Given the description of an element on the screen output the (x, y) to click on. 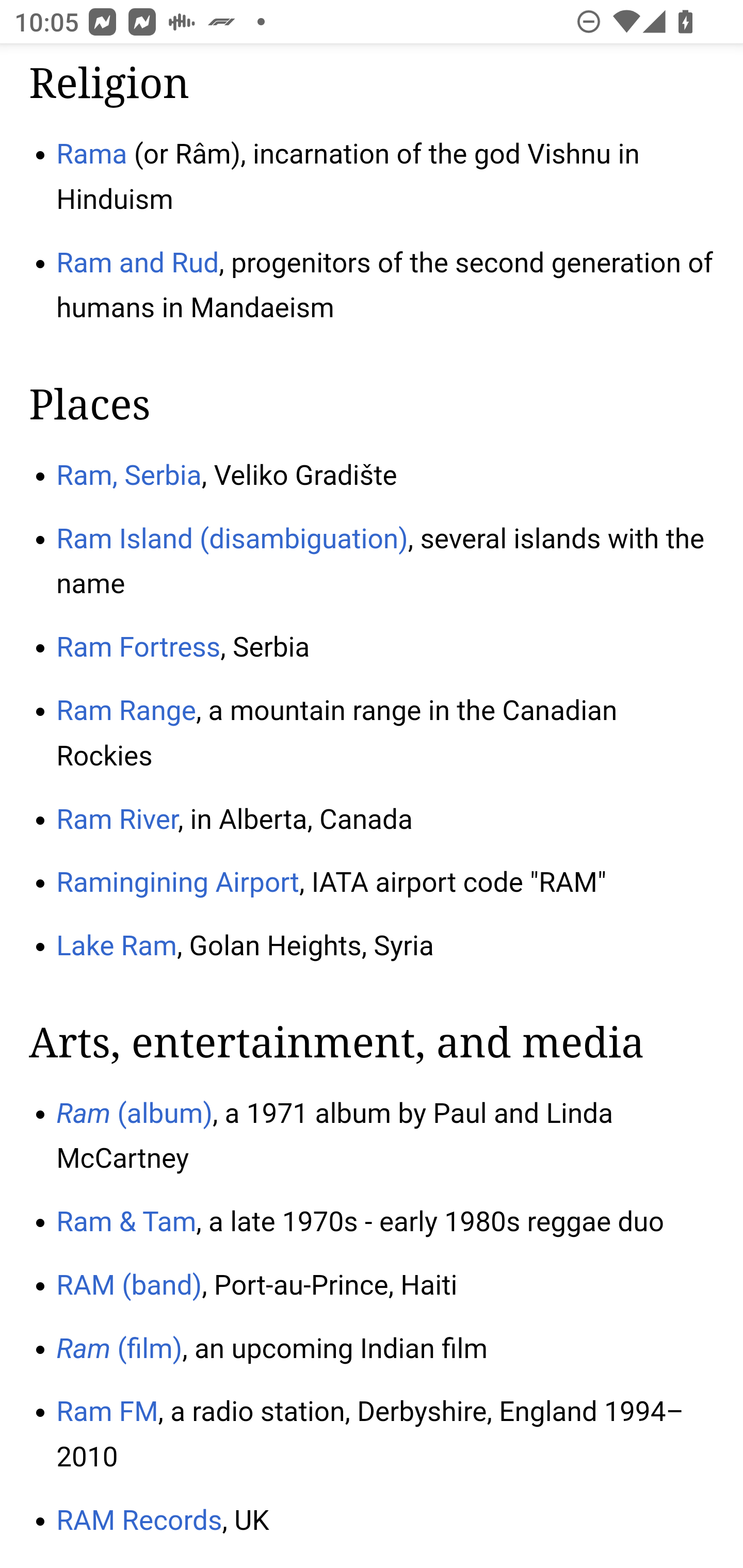
Rama (91, 155)
Ram and Rud (137, 264)
Ram, Serbia (128, 474)
Ram Island (disambiguation) (232, 539)
Ram Fortress (138, 648)
Ram Range (125, 710)
Ram River (116, 819)
Ramingining Airport (177, 883)
Lake Ram (116, 946)
Ram (album) Ram  (album) (134, 1114)
Ram & Tam (125, 1222)
RAM (band) (129, 1285)
Ram (film) Ram  (film) (119, 1348)
Ram FM (107, 1412)
RAM Records (139, 1520)
